Given the description of an element on the screen output the (x, y) to click on. 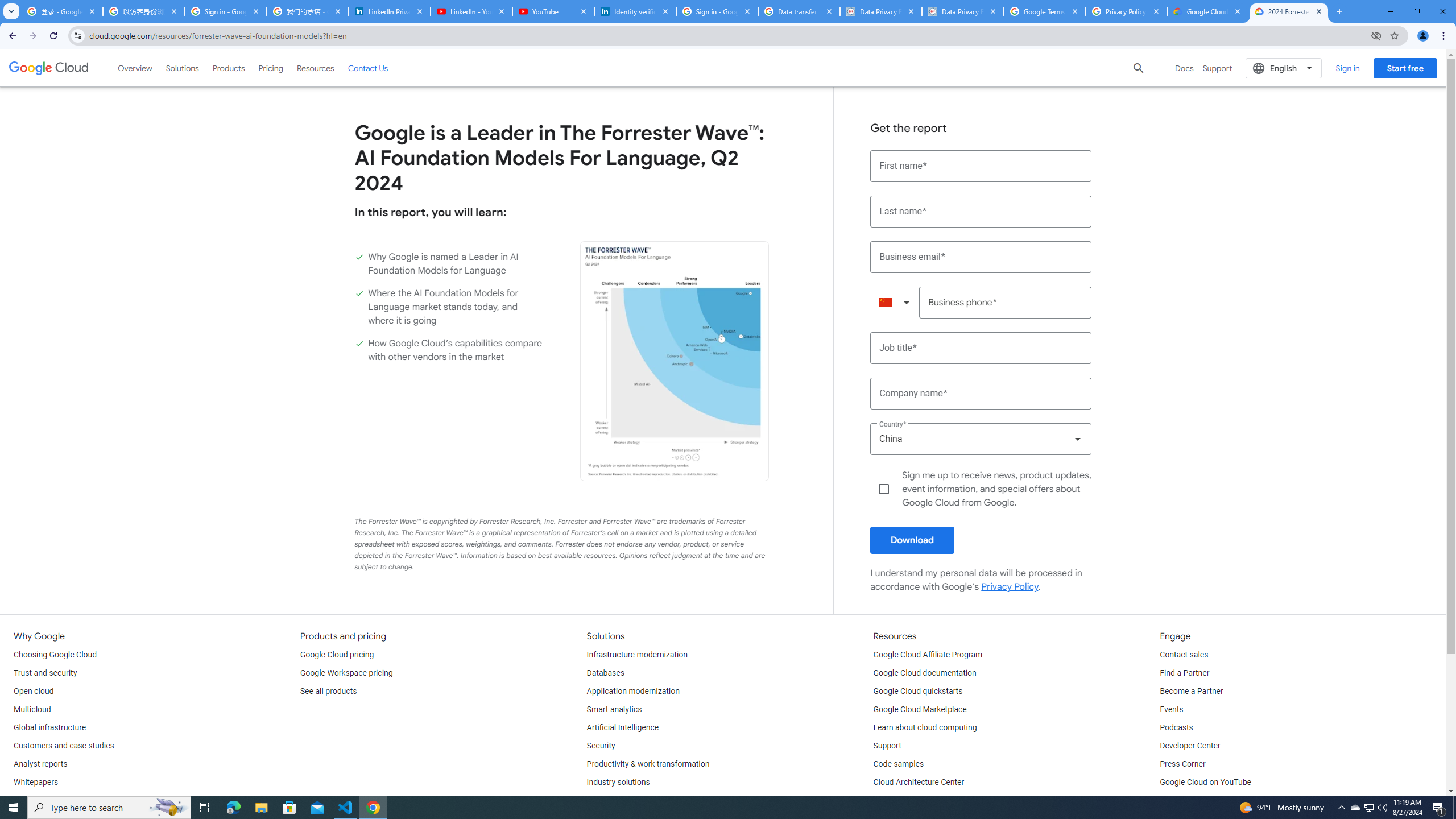
Analyst reports (39, 764)
Blog (21, 800)
Infrastructure modernization (637, 655)
Google Cloud Privacy Notice (1207, 11)
Download (912, 539)
Multicloud (31, 710)
Solutions (181, 67)
Business phone* (1005, 302)
Application modernization (632, 691)
Data Privacy Framework (963, 11)
Whitepapers (35, 782)
